Given the description of an element on the screen output the (x, y) to click on. 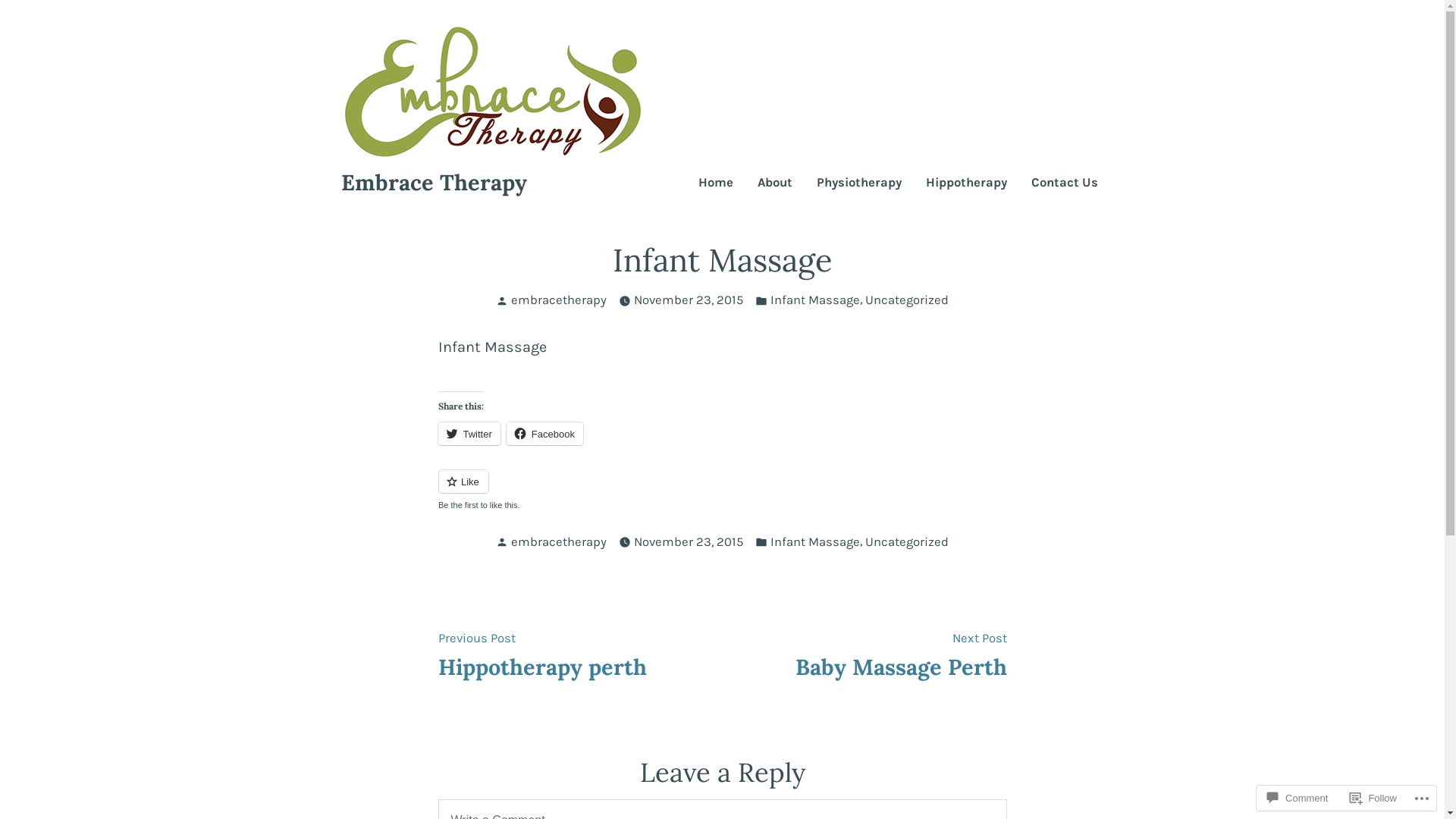
Infant Massage Element type: text (814, 300)
About Element type: text (773, 183)
Hippotherapy Element type: text (965, 183)
November 23, 2015 Element type: text (688, 300)
Follow Element type: text (1372, 797)
Uncategorized Element type: text (906, 542)
Infant Massage Element type: text (814, 542)
Embrace Therapy Element type: text (434, 182)
November 23, 2015 Element type: text (688, 542)
Contact Us Element type: text (1064, 183)
Facebook Element type: text (544, 433)
Uncategorized Element type: text (906, 300)
Next Post

Baby Massage Perth Element type: text (900, 653)
Previous Post

Hippotherapy perth Element type: text (542, 653)
Twitter Element type: text (469, 433)
embracetherapy Element type: text (558, 541)
Physiotherapy Element type: text (857, 183)
Comment Element type: text (1297, 797)
Home Element type: text (714, 183)
embracetherapy Element type: text (558, 299)
Like or Reblog Element type: hover (722, 490)
